Given the description of an element on the screen output the (x, y) to click on. 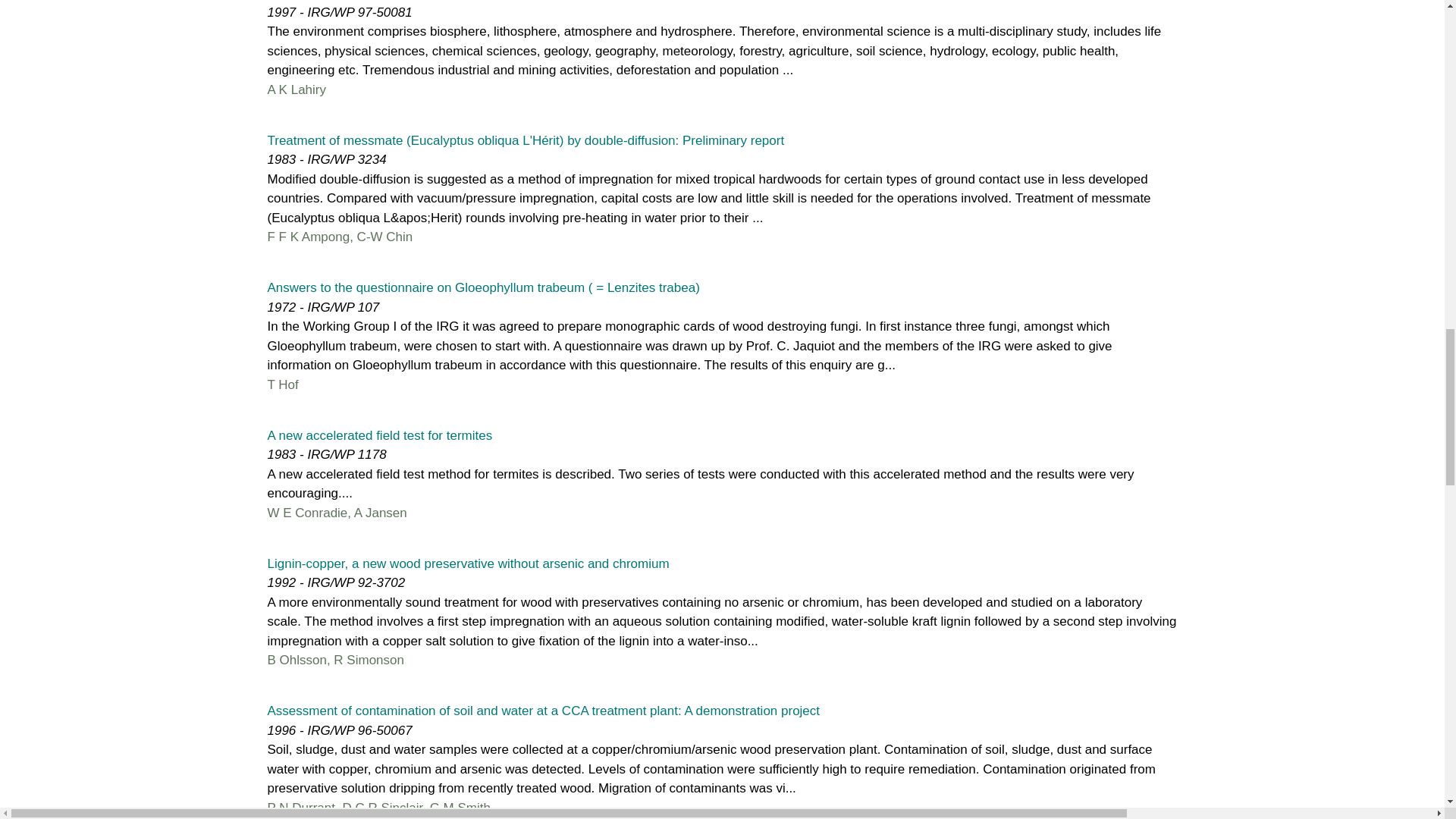
Click for more information about document. (482, 287)
Click for more information about document. (525, 140)
Click for more information about document. (542, 710)
Click for more information about document. (467, 563)
Click for more information about document. (379, 434)
